Given the description of an element on the screen output the (x, y) to click on. 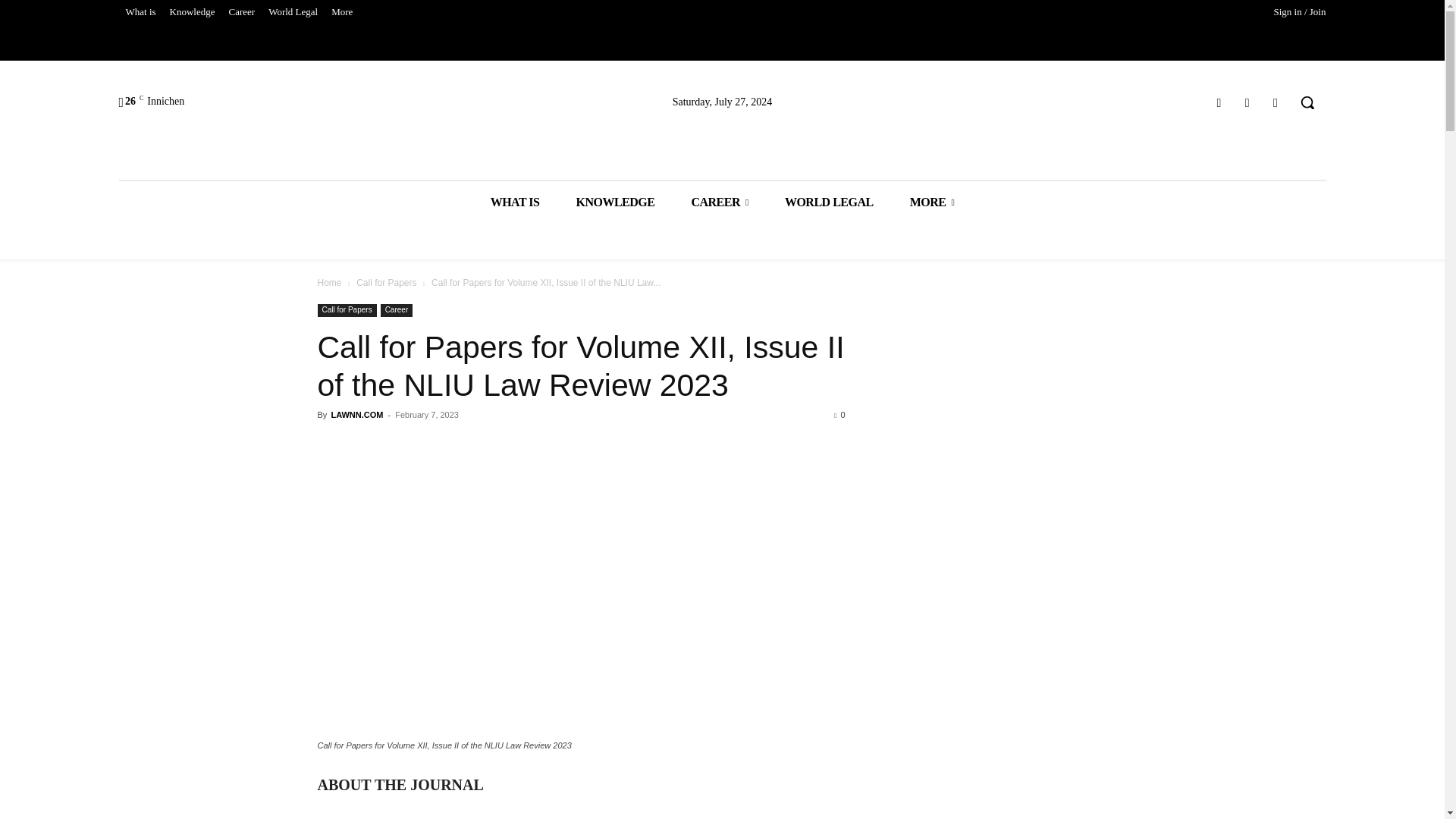
Career (242, 12)
Facebook (1218, 102)
World Legal (293, 12)
What is (139, 12)
More (341, 12)
WHAT IS (514, 201)
View all posts in Call for Papers (386, 282)
Youtube (1275, 102)
Knowledge (192, 12)
Twitter (1246, 102)
